Given the description of an element on the screen output the (x, y) to click on. 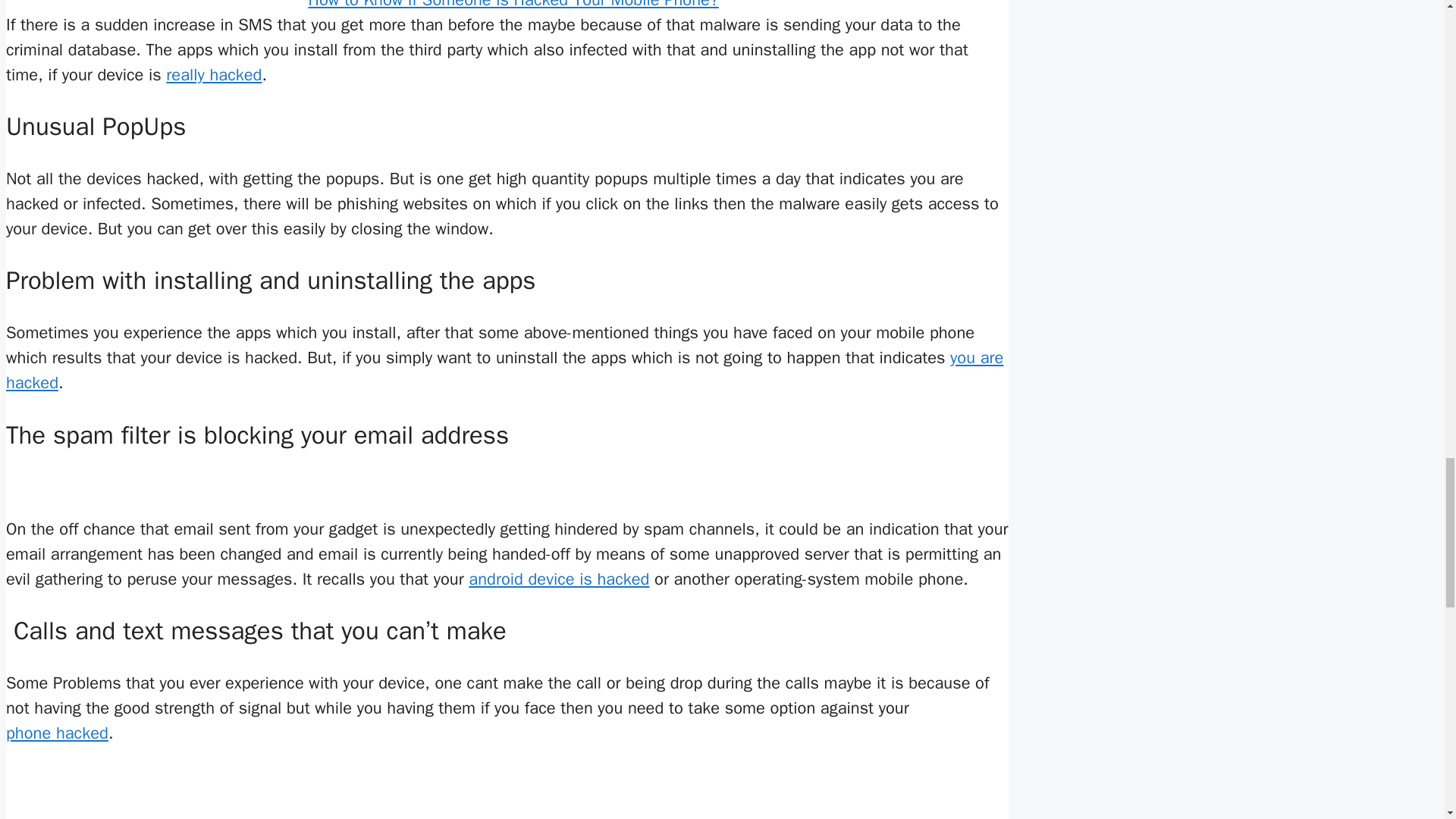
android device is hacked (558, 578)
really hacked (213, 74)
you are hacked (504, 370)
How to Know If Someone is Hacked Your Mobile Phone? (506, 6)
phone hacked (56, 732)
